Given the description of an element on the screen output the (x, y) to click on. 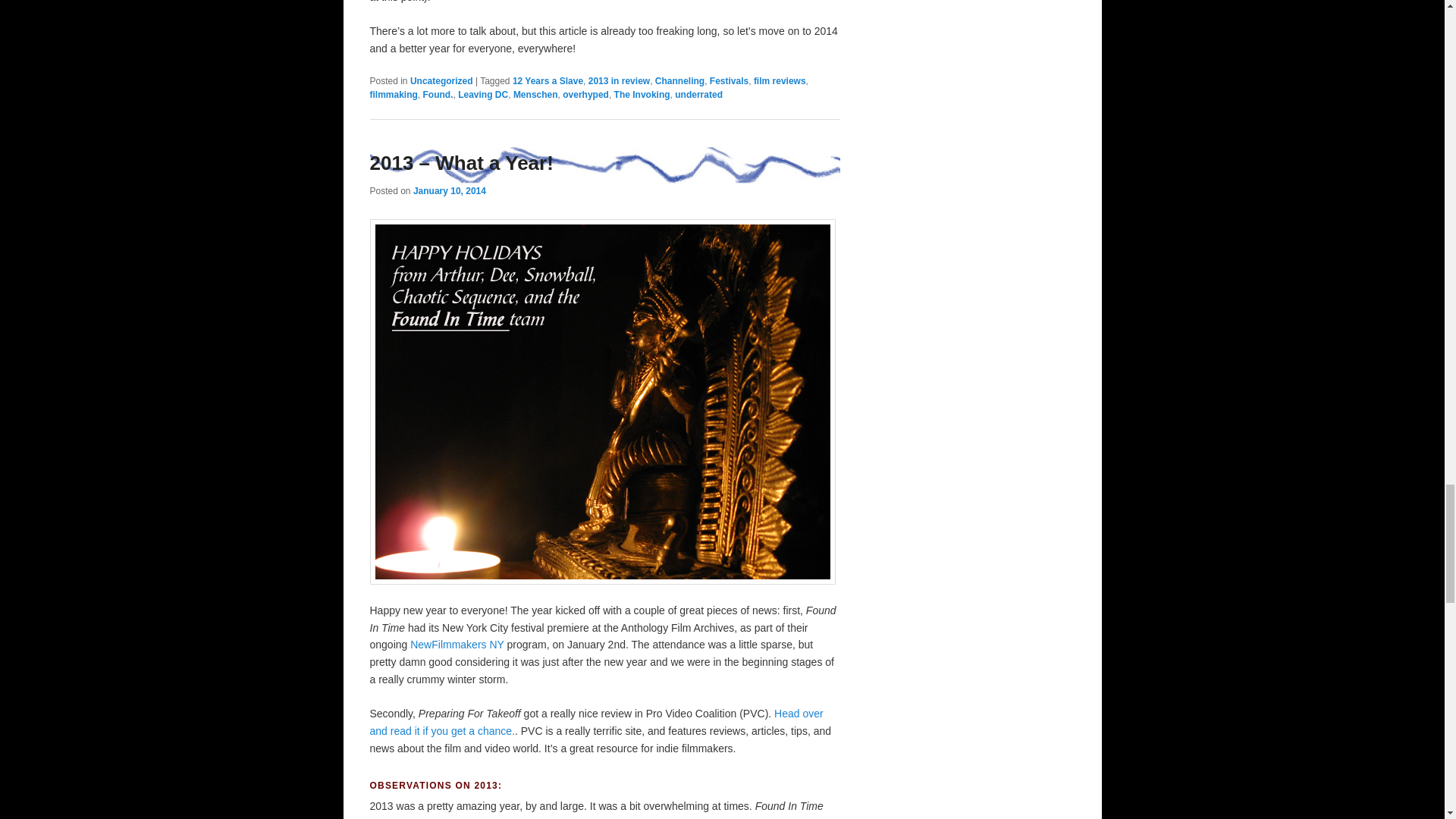
Festivals (729, 81)
12 Years a Slave (547, 81)
The Invoking (641, 94)
filmmaking (393, 94)
Uncategorized (441, 81)
1:28 am (449, 190)
2013 in review (618, 81)
Channeling (679, 81)
film reviews (780, 81)
underrated (698, 94)
Found. (437, 94)
overhyped (585, 94)
Leaving DC (483, 94)
January 10, 2014 (449, 190)
Menschen (535, 94)
